Given the description of an element on the screen output the (x, y) to click on. 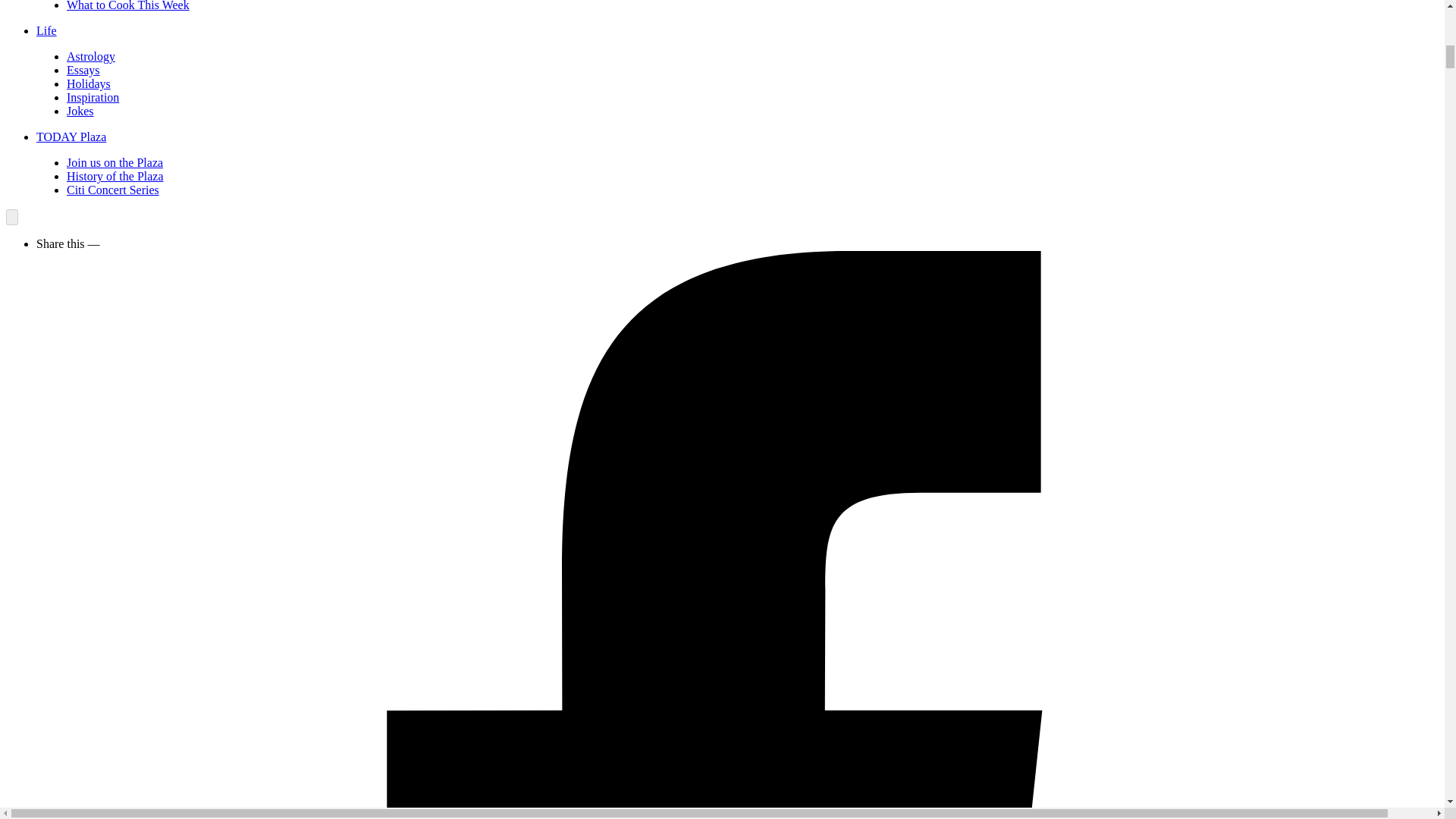
What to Cook This Week (127, 5)
Life (46, 30)
